Given the description of an element on the screen output the (x, y) to click on. 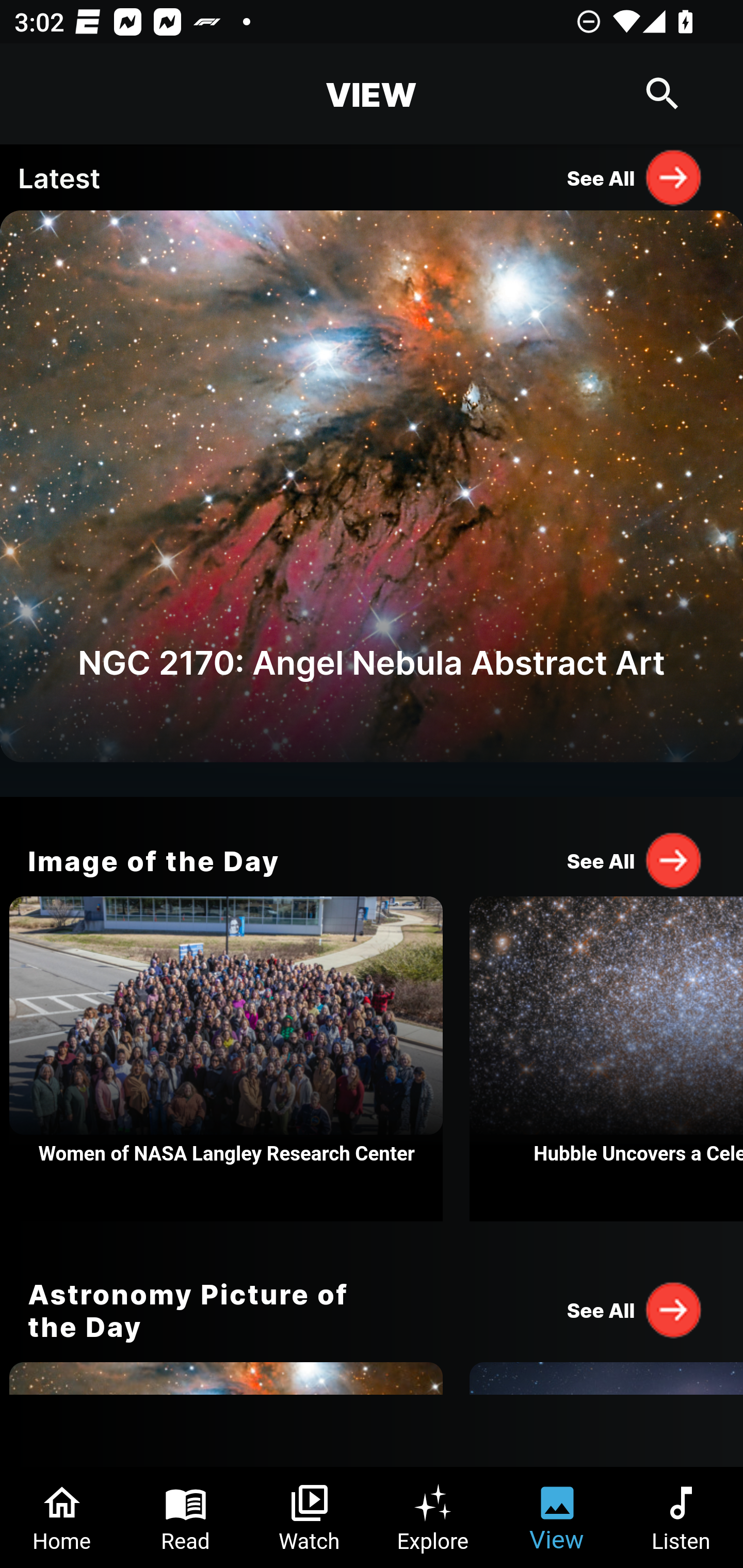
See All (634, 177)
NGC 2170: Angel Nebula Abstract Art
Hello World (371, 503)
See All (634, 860)
Women of NASA Langley Research Center (225, 1058)
Hubble Uncovers a Celestial Fossil (606, 1058)
See All (634, 1309)
Home
Tab 1 of 6 (62, 1517)
Read
Tab 2 of 6 (185, 1517)
Watch
Tab 3 of 6 (309, 1517)
Explore
Tab 4 of 6 (433, 1517)
View
Tab 5 of 6 (556, 1517)
Listen
Tab 6 of 6 (680, 1517)
